Given the description of an element on the screen output the (x, y) to click on. 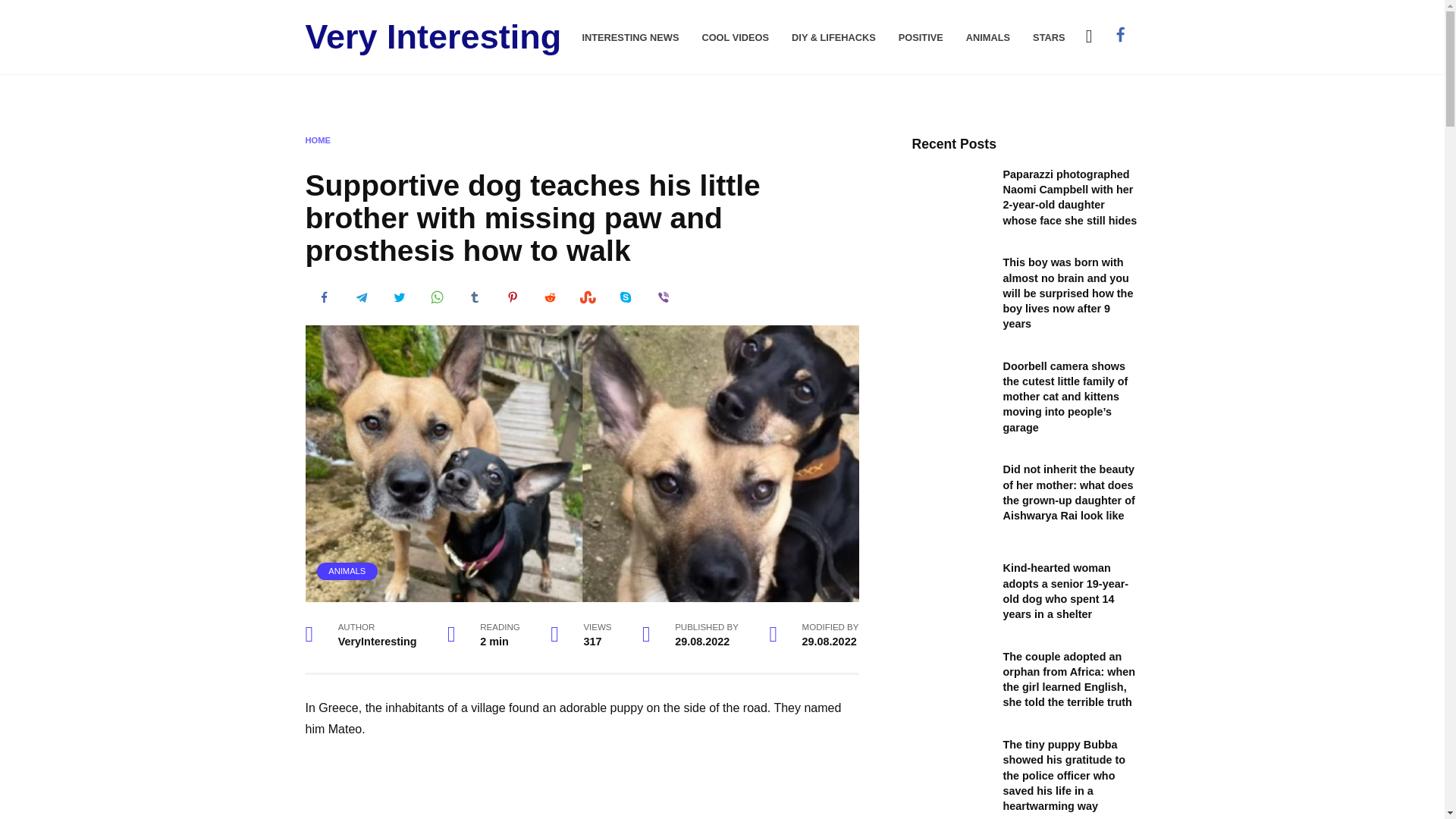
INTERESTING NEWS (629, 37)
STARS (1048, 37)
POSITIVE (920, 37)
HOME (317, 139)
ANIMALS (347, 570)
COOL VIDEOS (734, 37)
